Given the description of an element on the screen output the (x, y) to click on. 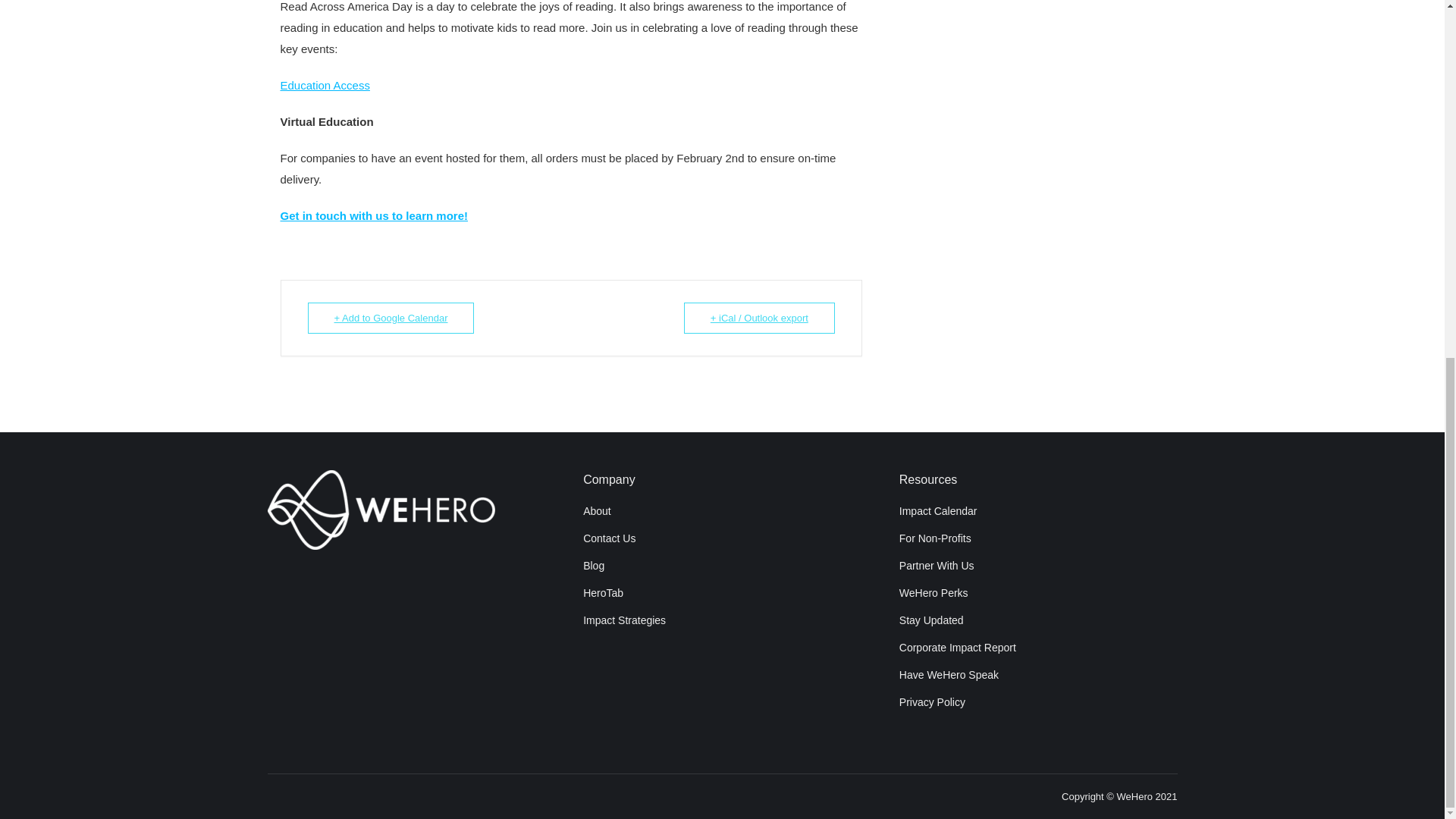
About (597, 510)
Stay Updated (931, 620)
WeHero Perks (933, 592)
Partner With Us (936, 565)
Blog (593, 565)
Contact Us (608, 538)
Impact Strategies (624, 620)
Corporate Impact Report (957, 647)
Impact Calendar (937, 510)
Have WeHero Speak (948, 674)
